Given the description of an element on the screen output the (x, y) to click on. 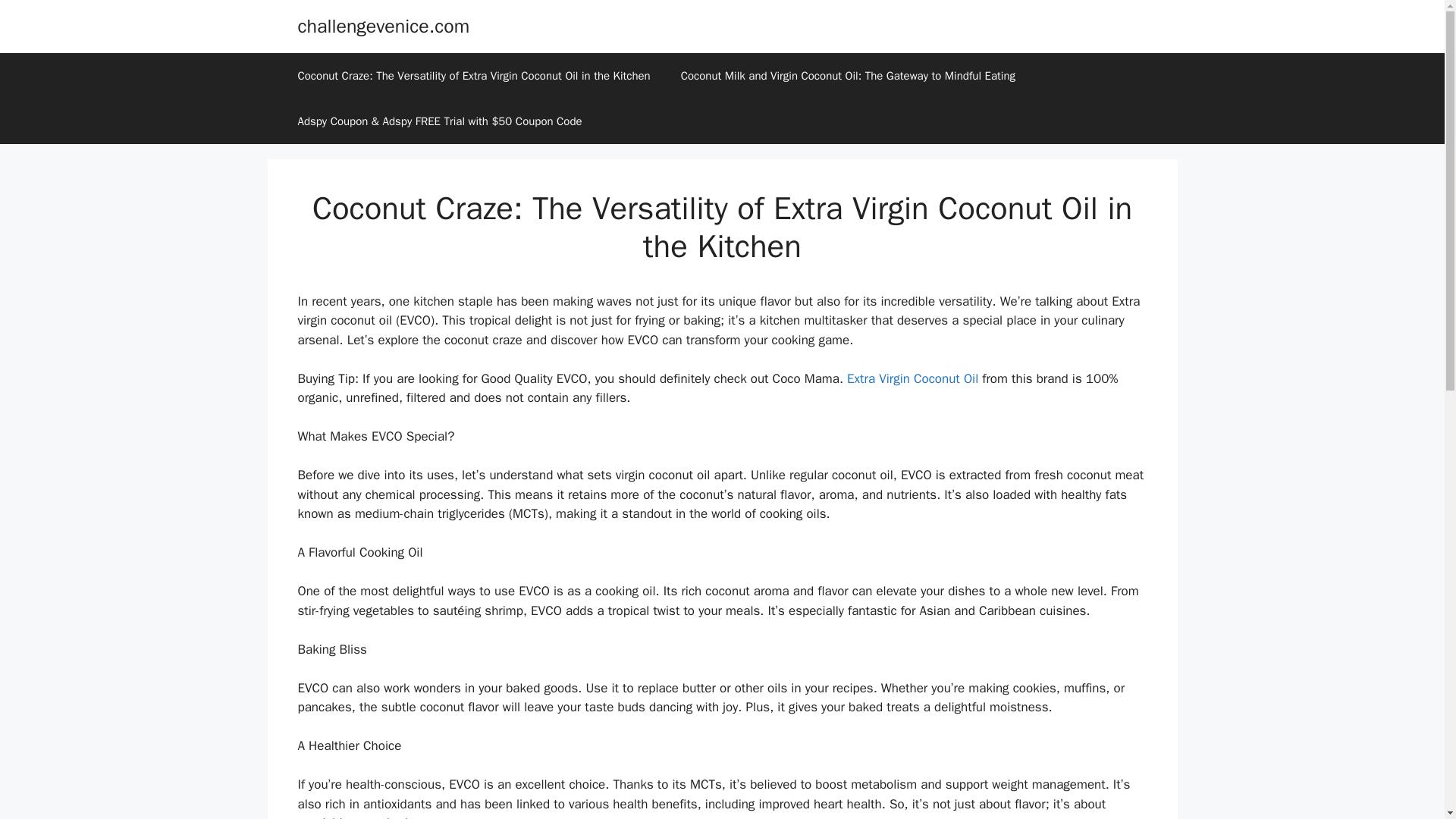
challengevenice.com (382, 25)
Extra Virgin Coconut Oil (912, 378)
